Given the description of an element on the screen output the (x, y) to click on. 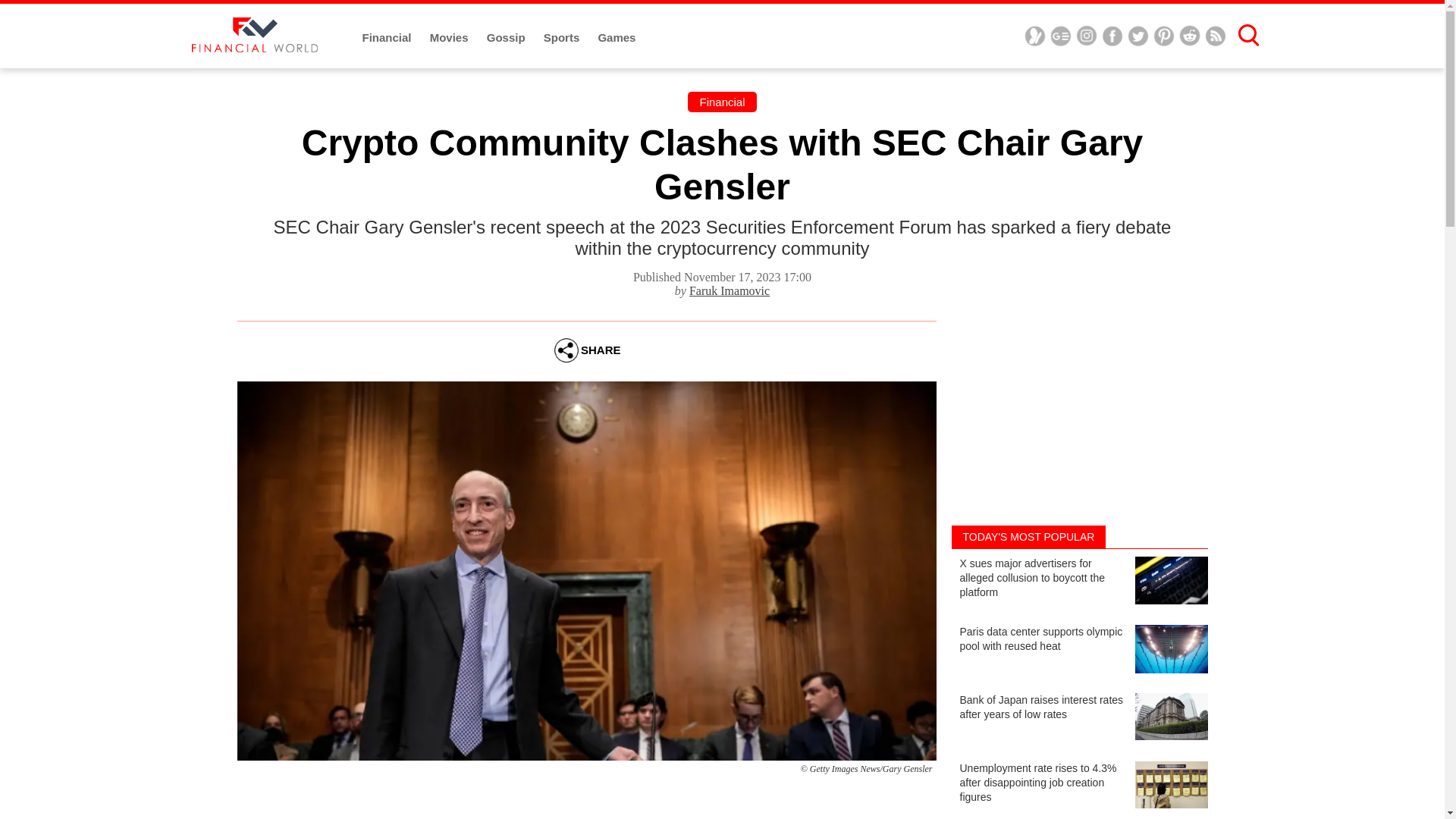
Sports (563, 37)
Faruk Imamovic (729, 290)
Financial (721, 101)
Gossip (507, 37)
Games (615, 37)
Paris data center supports olympic pool with reused heat (1078, 651)
Movies (450, 37)
Financial (388, 37)
Bank of Japan raises interest rates after years of low rates (1078, 719)
